Given the description of an element on the screen output the (x, y) to click on. 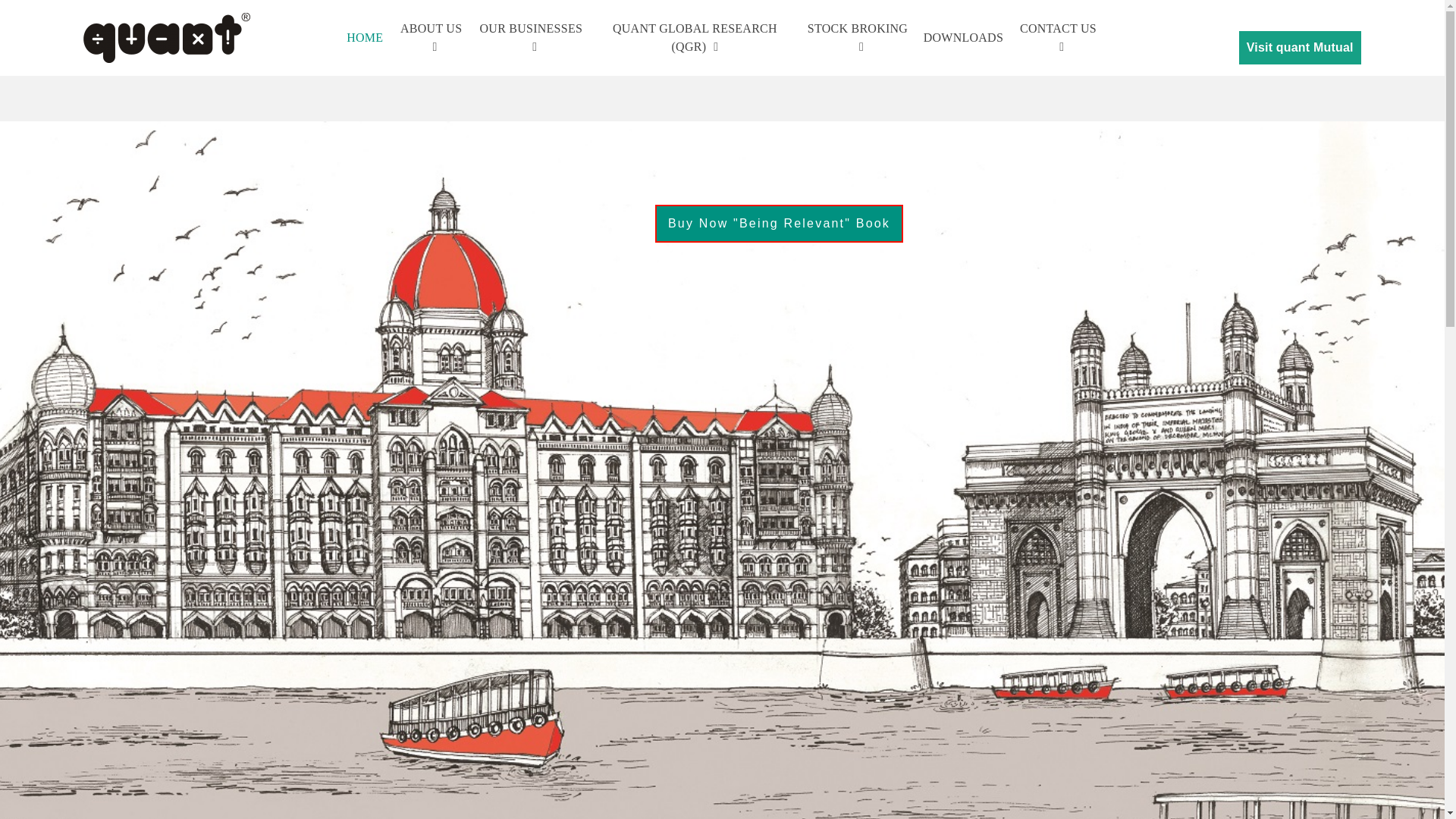
OUR BUSINESSES (530, 37)
STOCK BROKING (857, 37)
HOME (364, 37)
ABOUT US (430, 37)
